Given the description of an element on the screen output the (x, y) to click on. 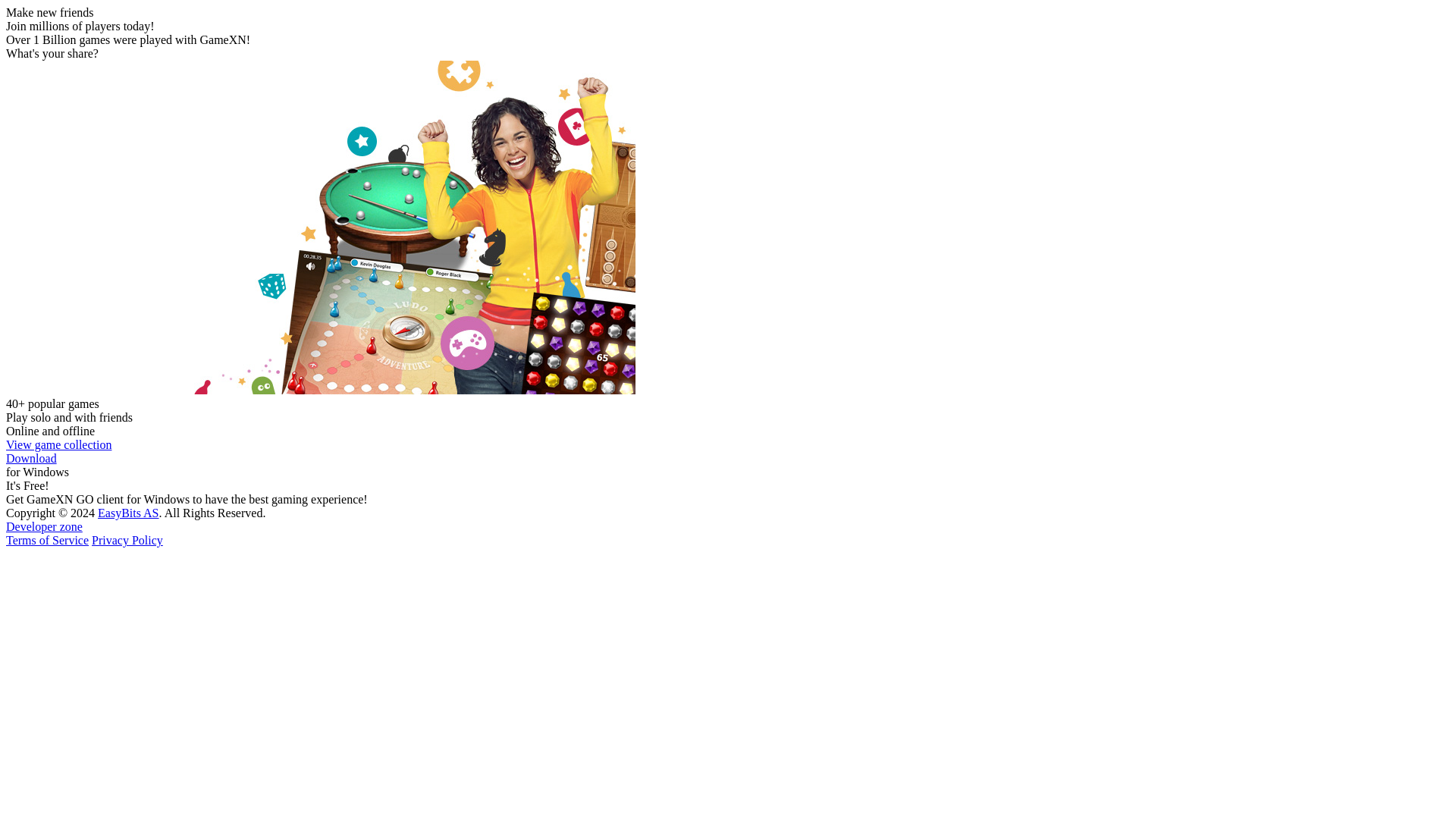
Download (30, 458)
View game collection (58, 444)
Developer zone (43, 526)
EasyBits AS (127, 512)
